Given the description of an element on the screen output the (x, y) to click on. 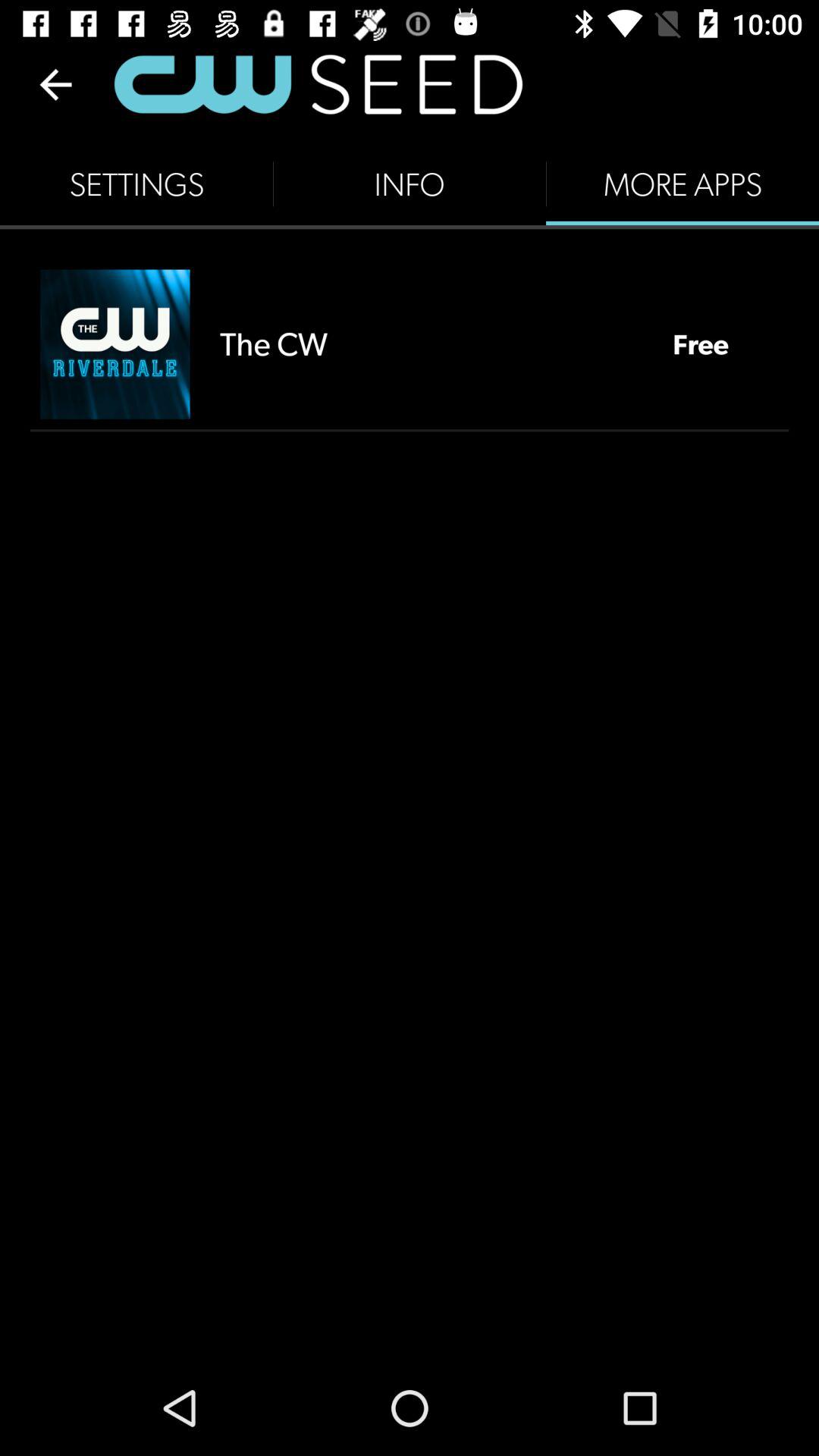
press settings icon (136, 184)
